Given the description of an element on the screen output the (x, y) to click on. 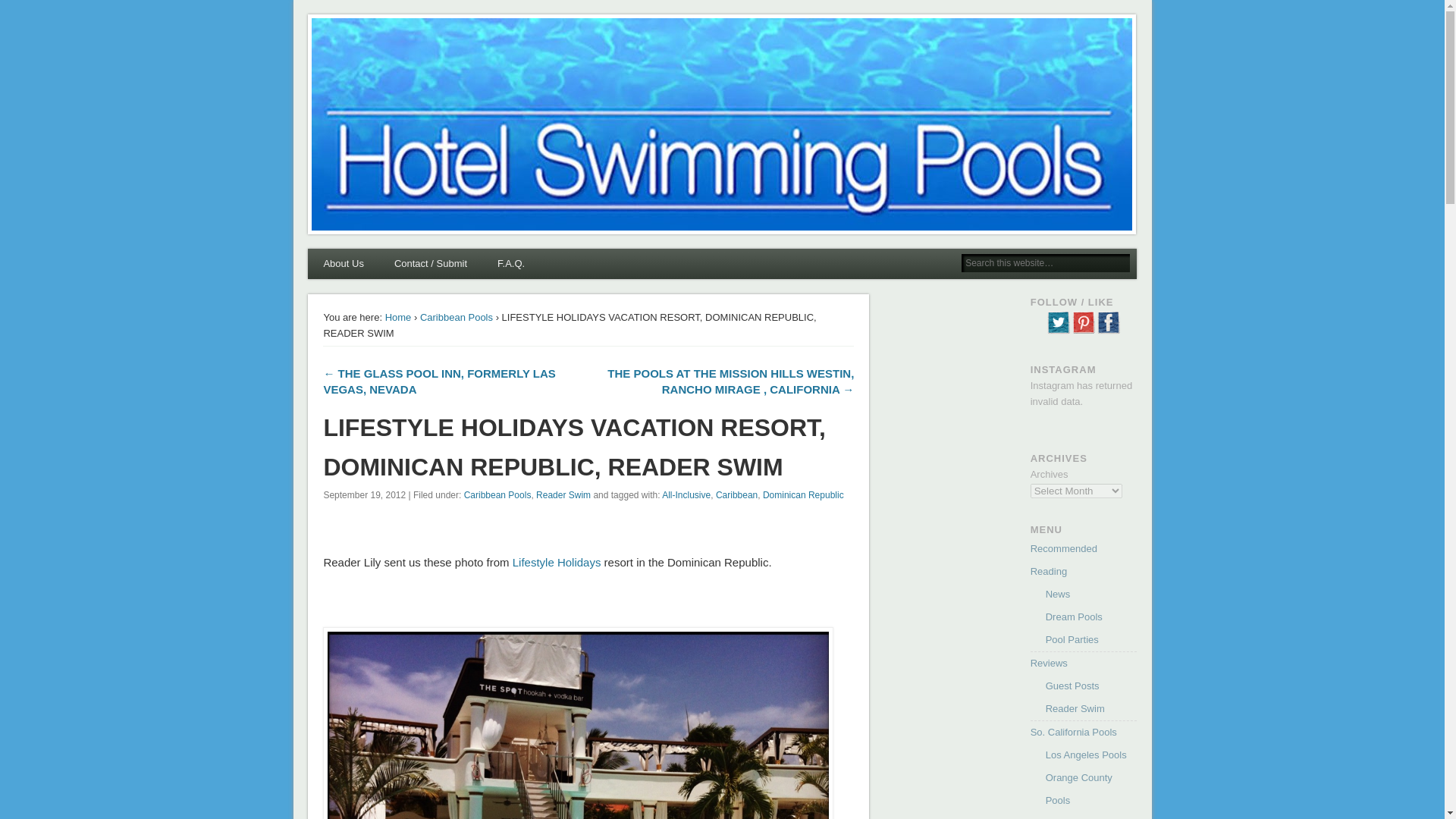
Caribbean (736, 494)
Reader Swim (563, 494)
Caribbean Pools (456, 317)
HotelSwimmingPools.com (441, 37)
About Us (342, 263)
Visit Us On Facebook (1108, 330)
All-Inclusive (686, 494)
Dominican Republic (803, 494)
F.A.Q. (510, 263)
Home (398, 317)
